Given the description of an element on the screen output the (x, y) to click on. 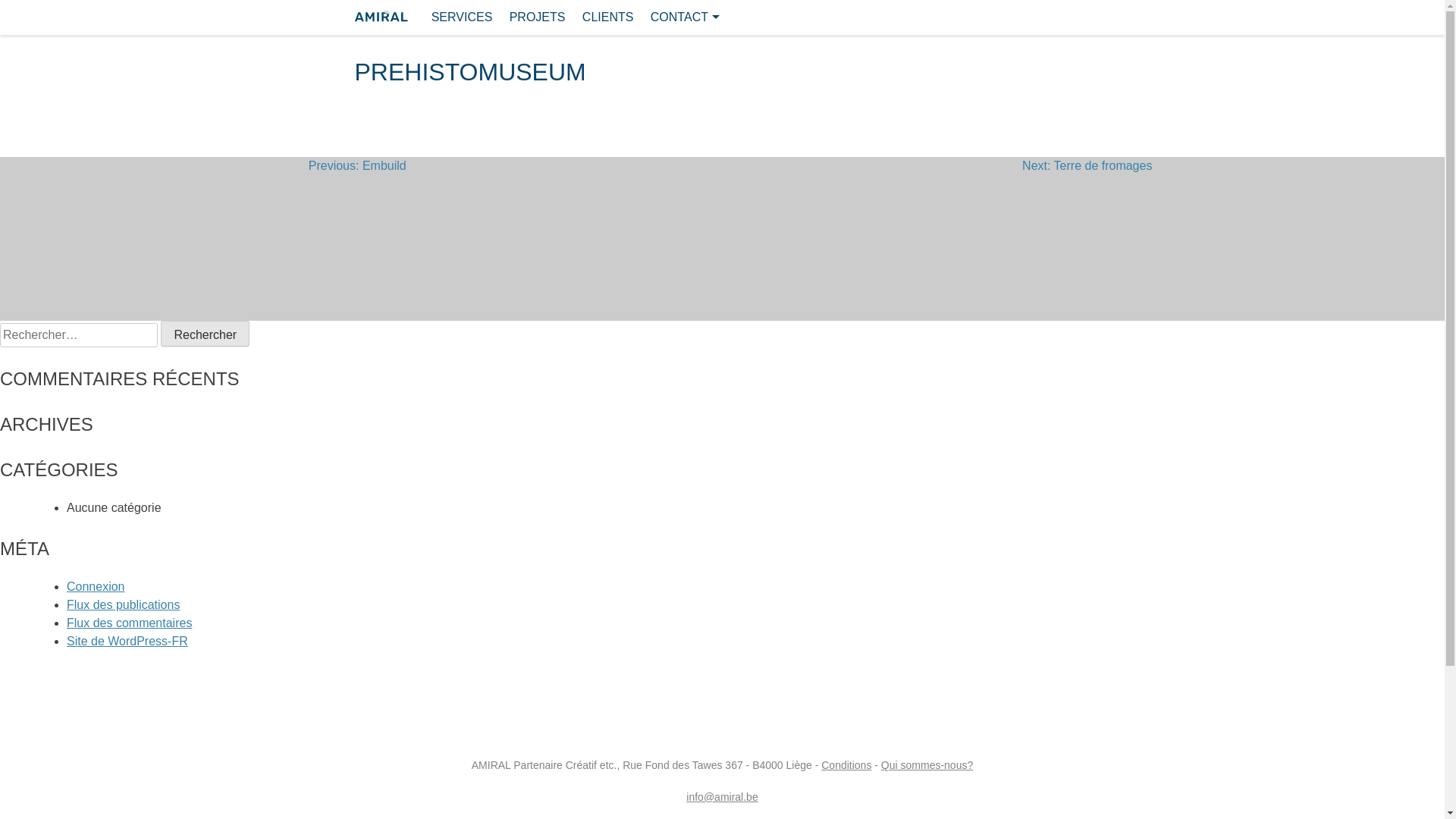
Next: Terre de fromages Element type: text (1086, 238)
CONTACT Element type: text (684, 14)
PROJETS Element type: text (537, 14)
Site de WordPress-FR Element type: text (127, 640)
Conditions Element type: text (846, 765)
Connexion Element type: text (95, 586)
info@amiral.be Element type: text (721, 796)
CLIENTS Element type: text (607, 14)
Flux des commentaires Element type: text (128, 622)
Rechercher Element type: text (204, 333)
Flux des publications Element type: text (122, 604)
Qui sommes-nous? Element type: text (926, 765)
SERVICES Element type: text (461, 14)
